Given the description of an element on the screen output the (x, y) to click on. 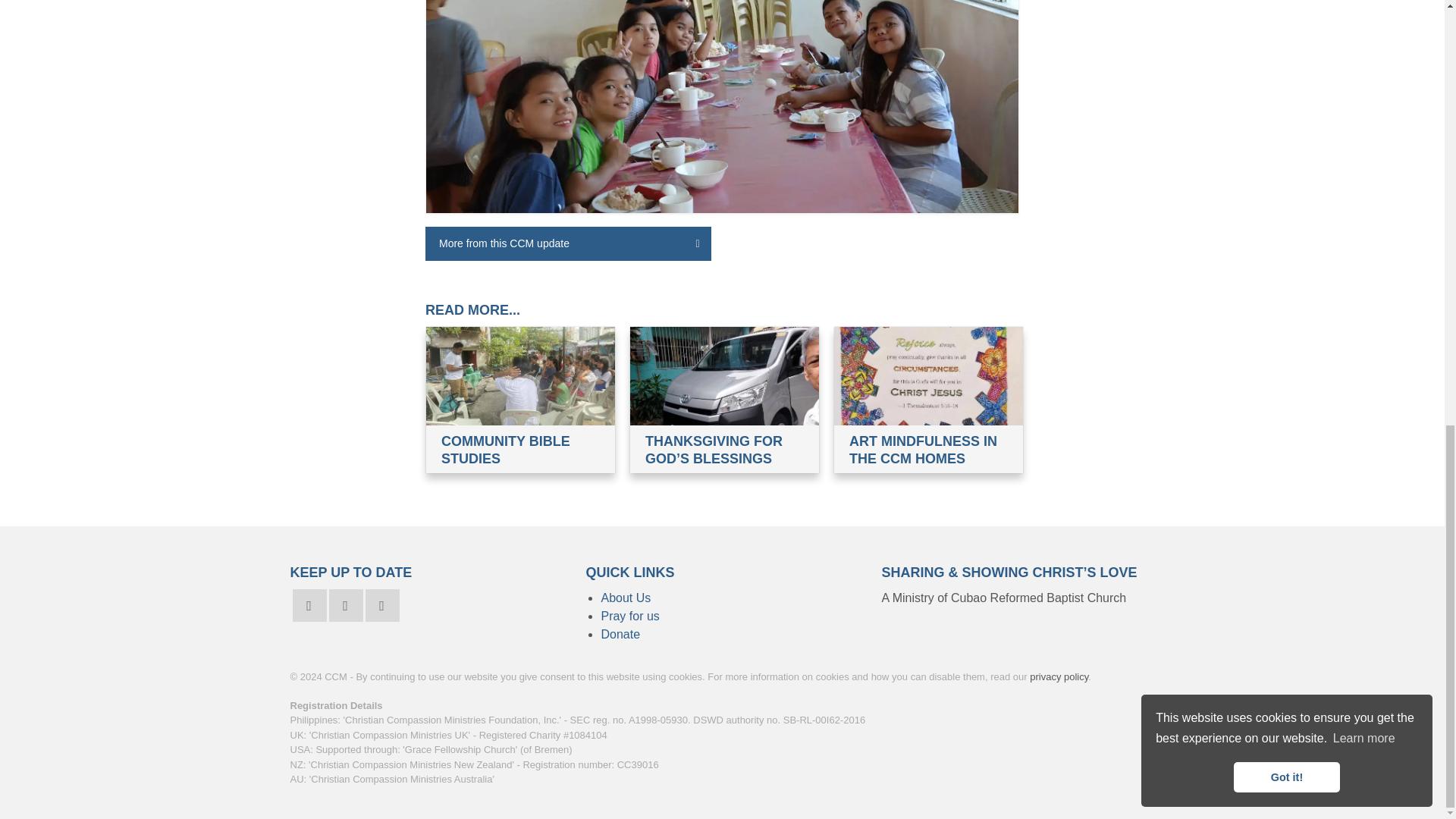
More from this CCM update (568, 243)
